Given the description of an element on the screen output the (x, y) to click on. 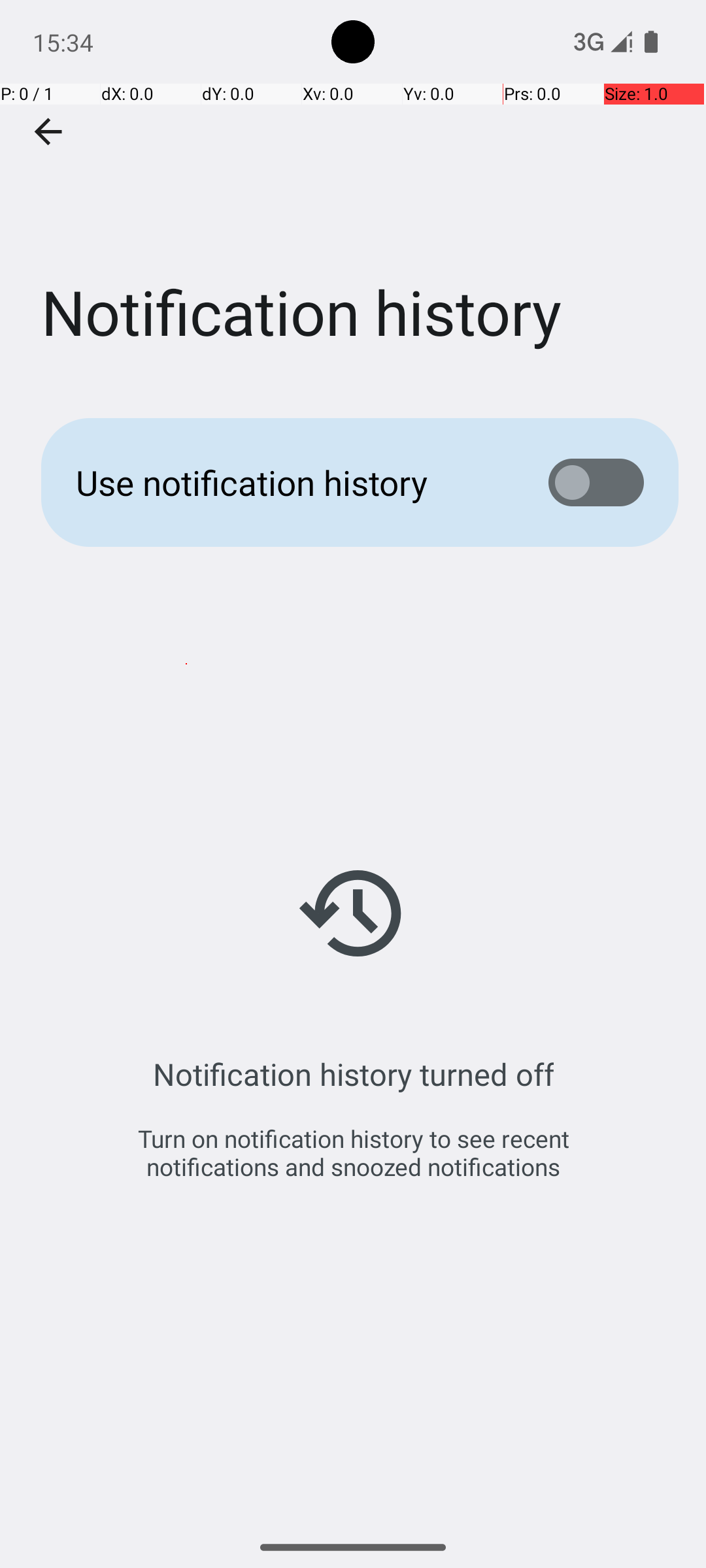
Notification history Element type: android.widget.FrameLayout (353, 195)
Notification history turned off Element type: android.widget.TextView (352, 1073)
Turn on notification history to see recent notifications and snoozed notifications Element type: android.widget.TextView (352, 1152)
Use notification history Element type: android.widget.TextView (291, 482)
